Given the description of an element on the screen output the (x, y) to click on. 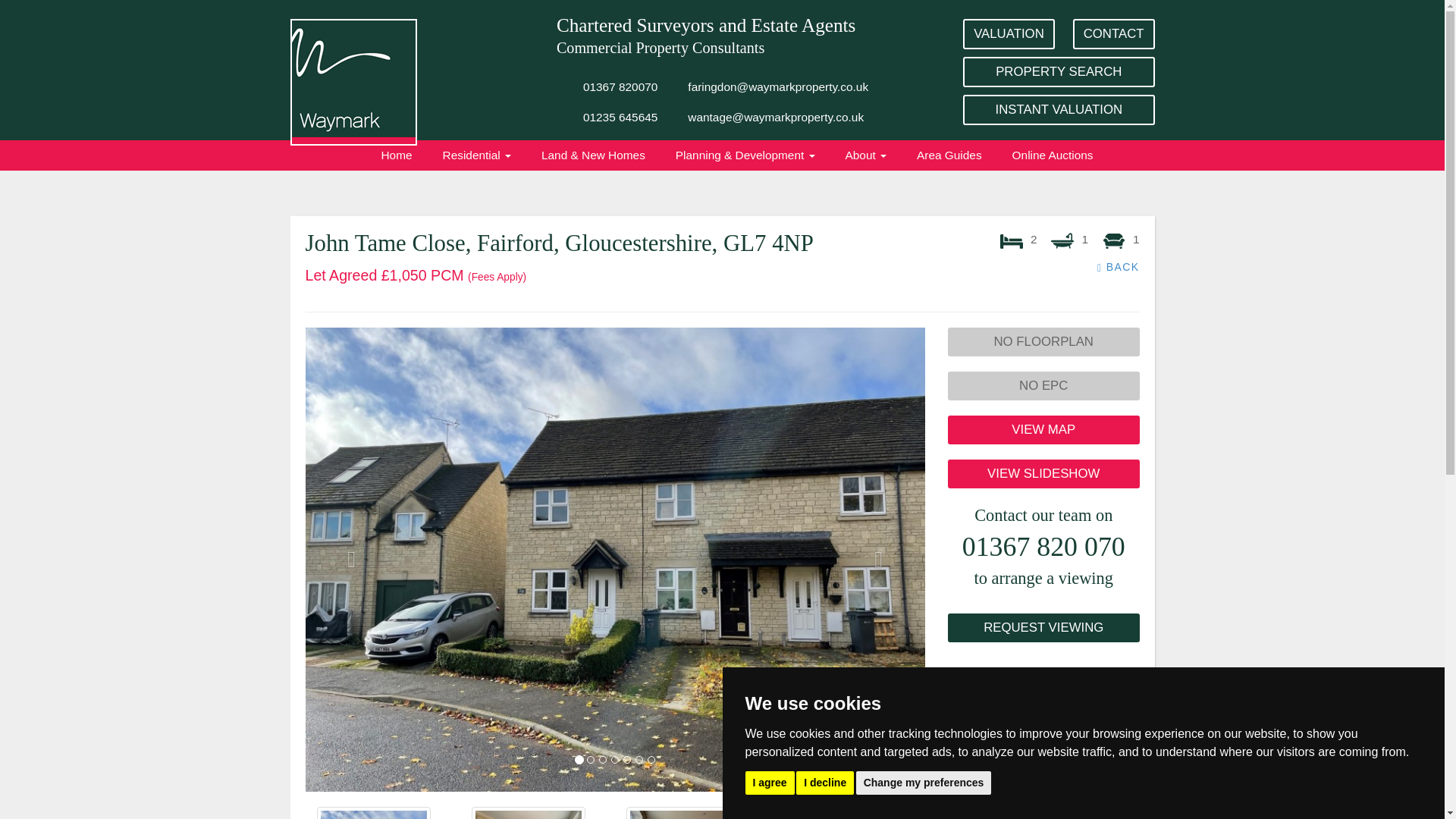
Change my preferences (923, 781)
I decline (824, 781)
Online Auctions (1052, 155)
I agree (768, 781)
VALUATION (1008, 33)
01235 645645 (619, 117)
Residential (476, 155)
INSTANT VALUATION (1058, 110)
CONTACT (1113, 33)
PROPERTY SEARCH (1058, 71)
About (865, 155)
01367 820070 (619, 87)
Home (395, 155)
Area Guides (949, 155)
